Given the description of an element on the screen output the (x, y) to click on. 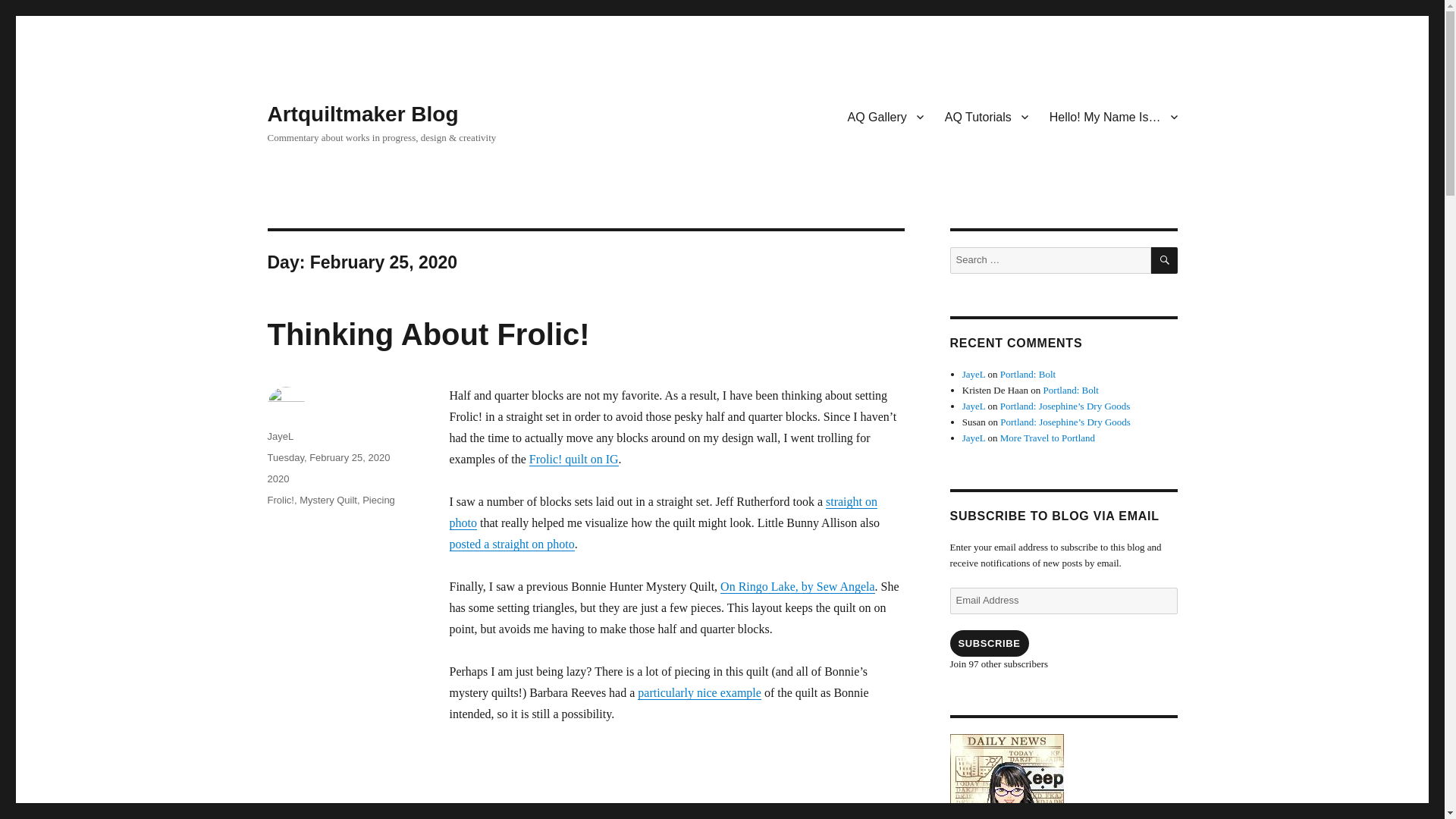
AQ Gallery (885, 116)
Jaye, Artquiltmaker.com (1062, 776)
Artquiltmaker Blog (362, 114)
